Given the description of an element on the screen output the (x, y) to click on. 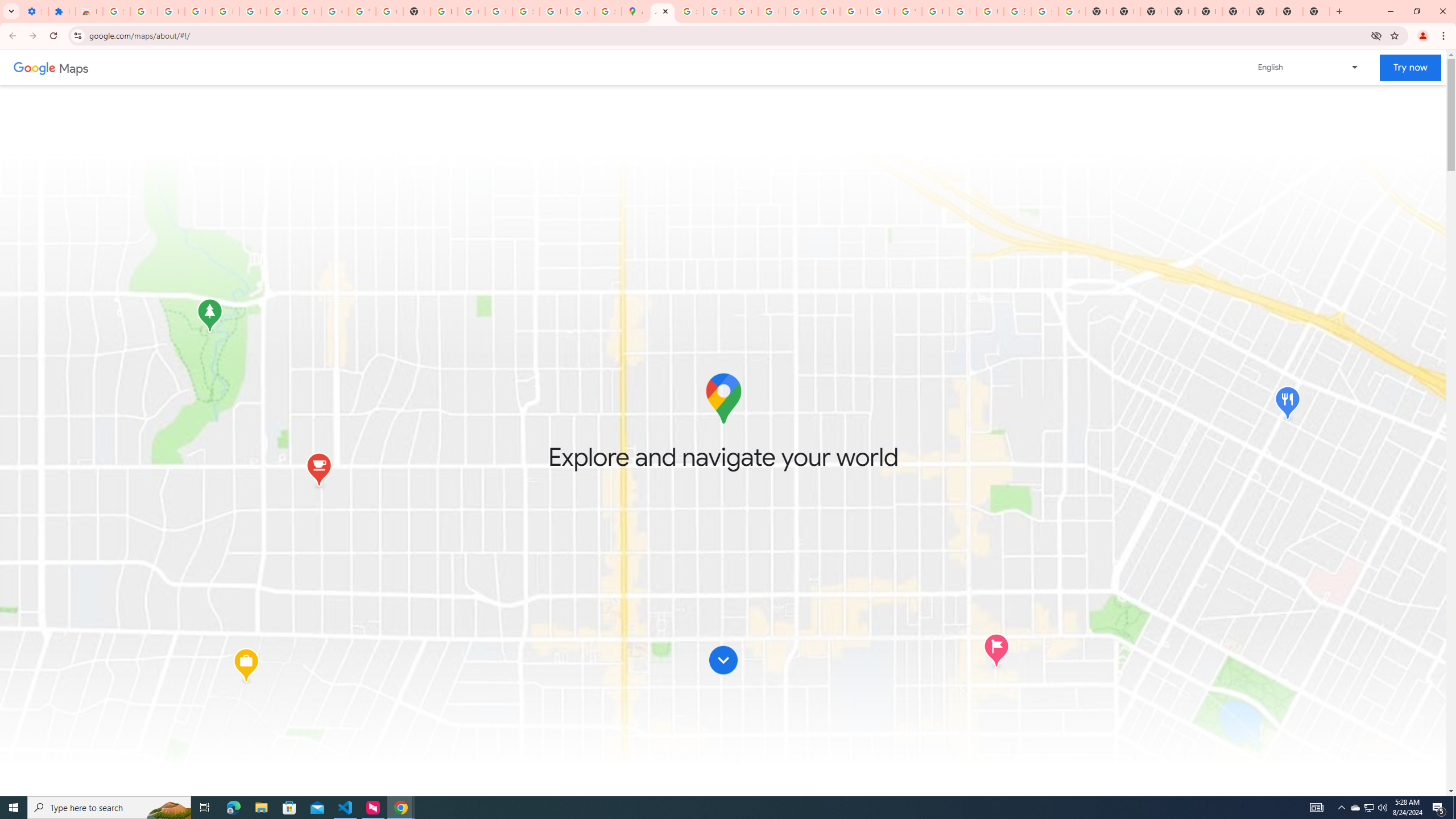
YouTube (908, 11)
Skip to Content (723, 660)
Privacy Help Center - Policies Help (799, 11)
Change language or region (1308, 66)
Try now (1409, 67)
